Given the description of an element on the screen output the (x, y) to click on. 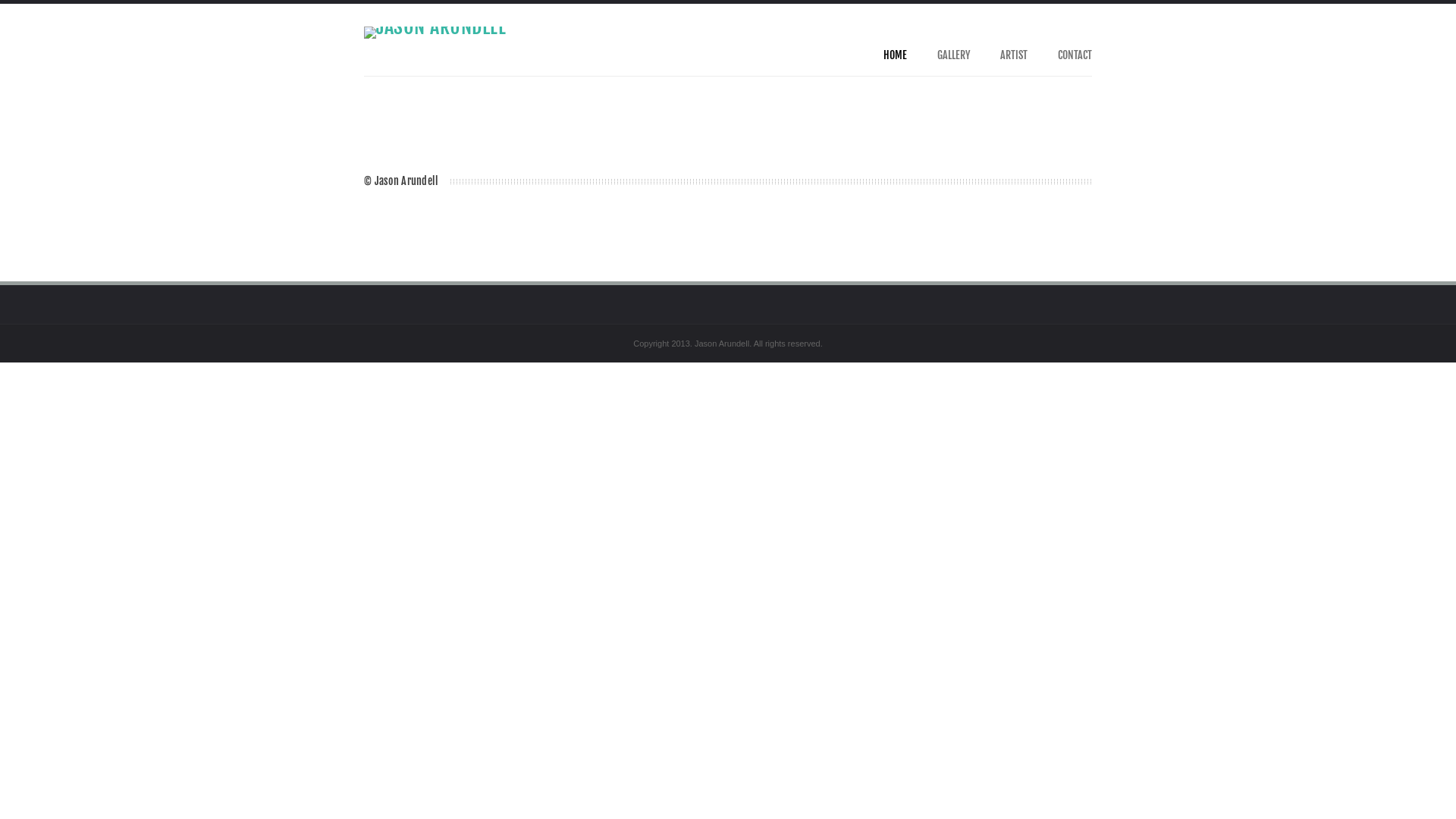
GALLERY Element type: text (953, 54)
HOME Element type: text (894, 54)
ARTIST Element type: text (1013, 54)
CONTACT Element type: text (1074, 54)
